Given the description of an element on the screen output the (x, y) to click on. 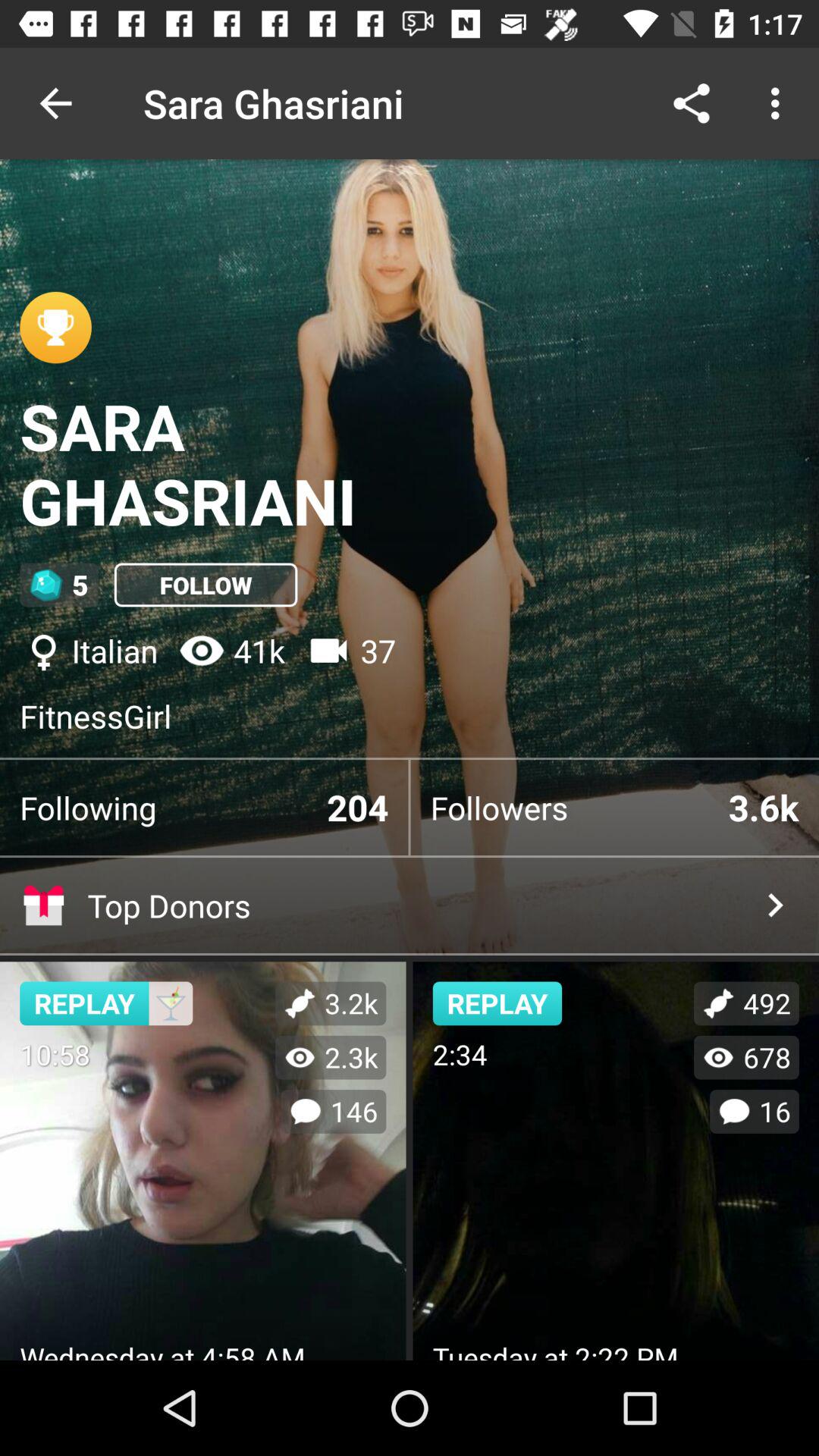
tap the item to the right of 5 item (205, 584)
